Given the description of an element on the screen output the (x, y) to click on. 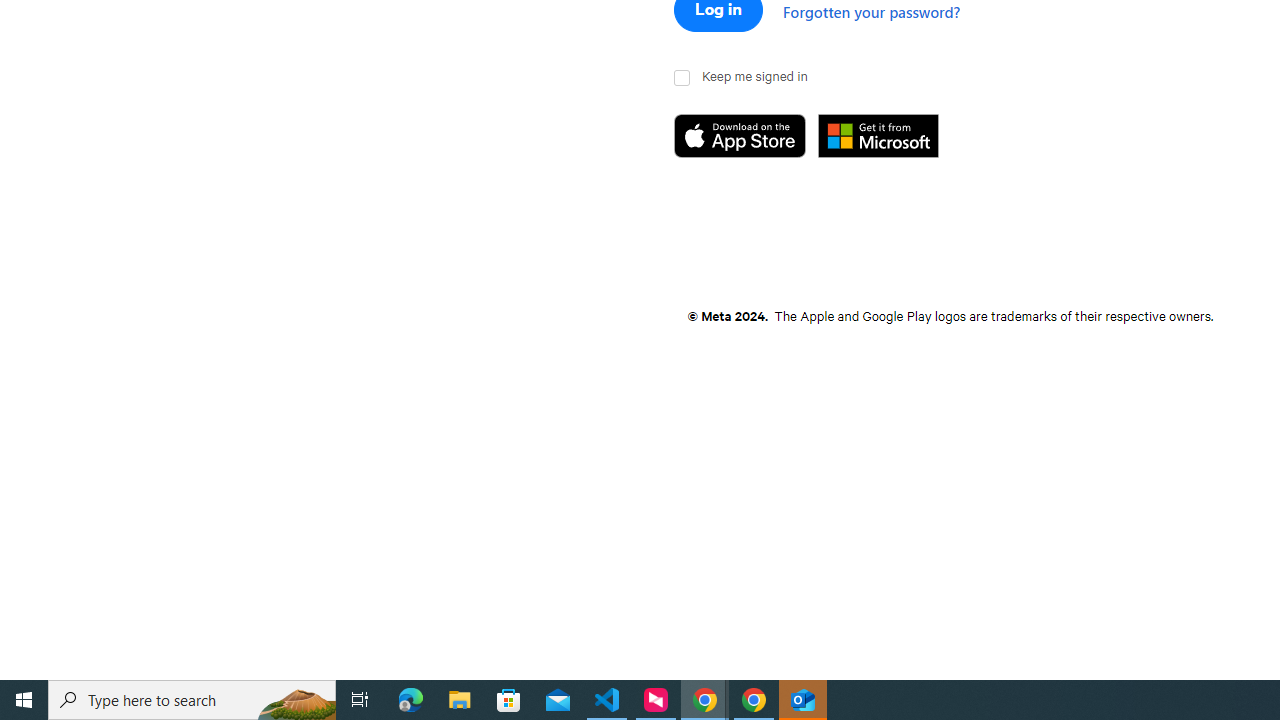
Download on the App Store (745, 137)
Get it from Microsoft (889, 137)
Keep me signed in (684, 78)
Forgotten your password? (871, 11)
